Given the description of an element on the screen output the (x, y) to click on. 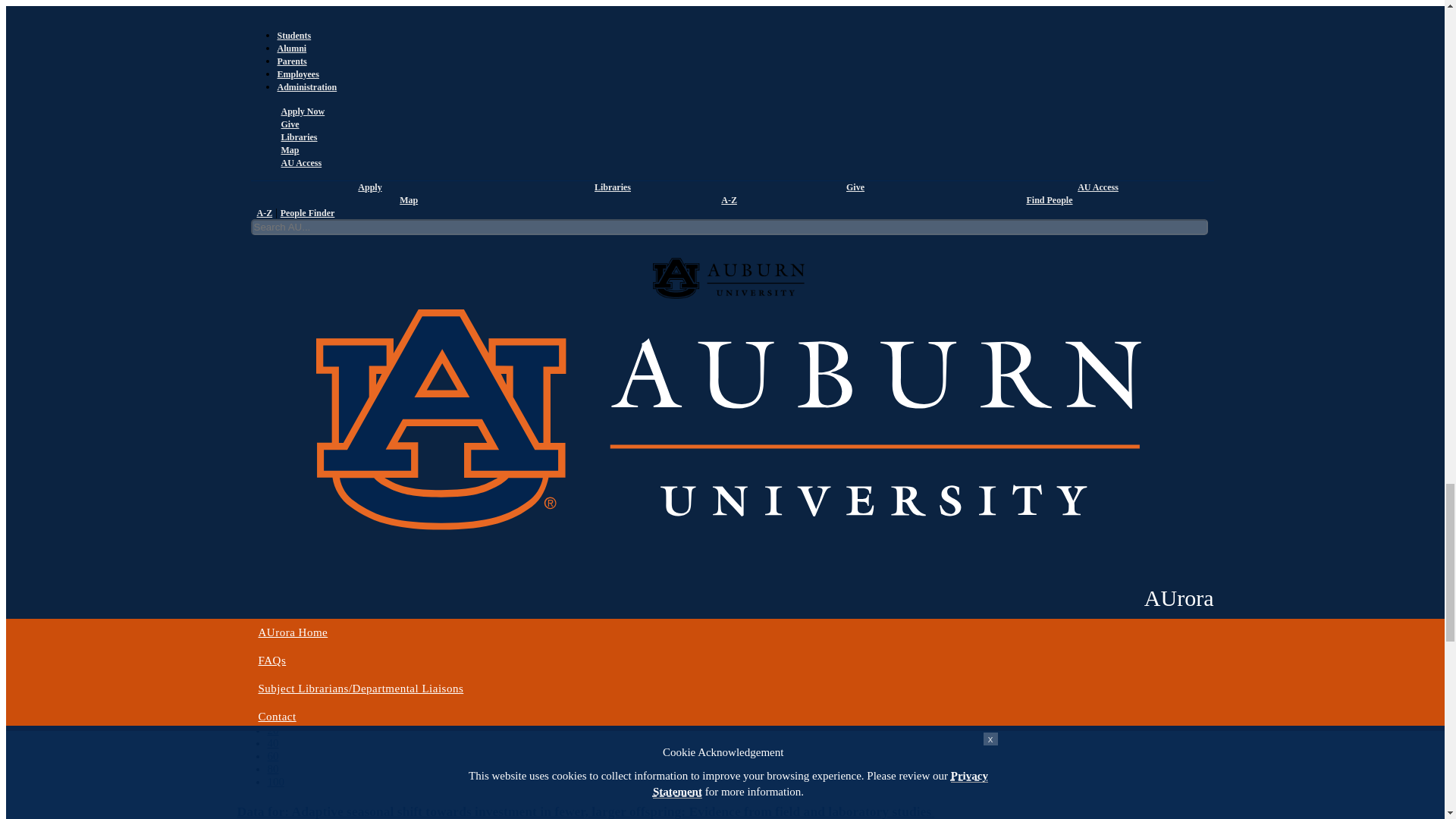
Add Filter (241, 47)
Hall, Joshua M (303, 187)
Anolis (303, 383)
